Given the description of an element on the screen output the (x, y) to click on. 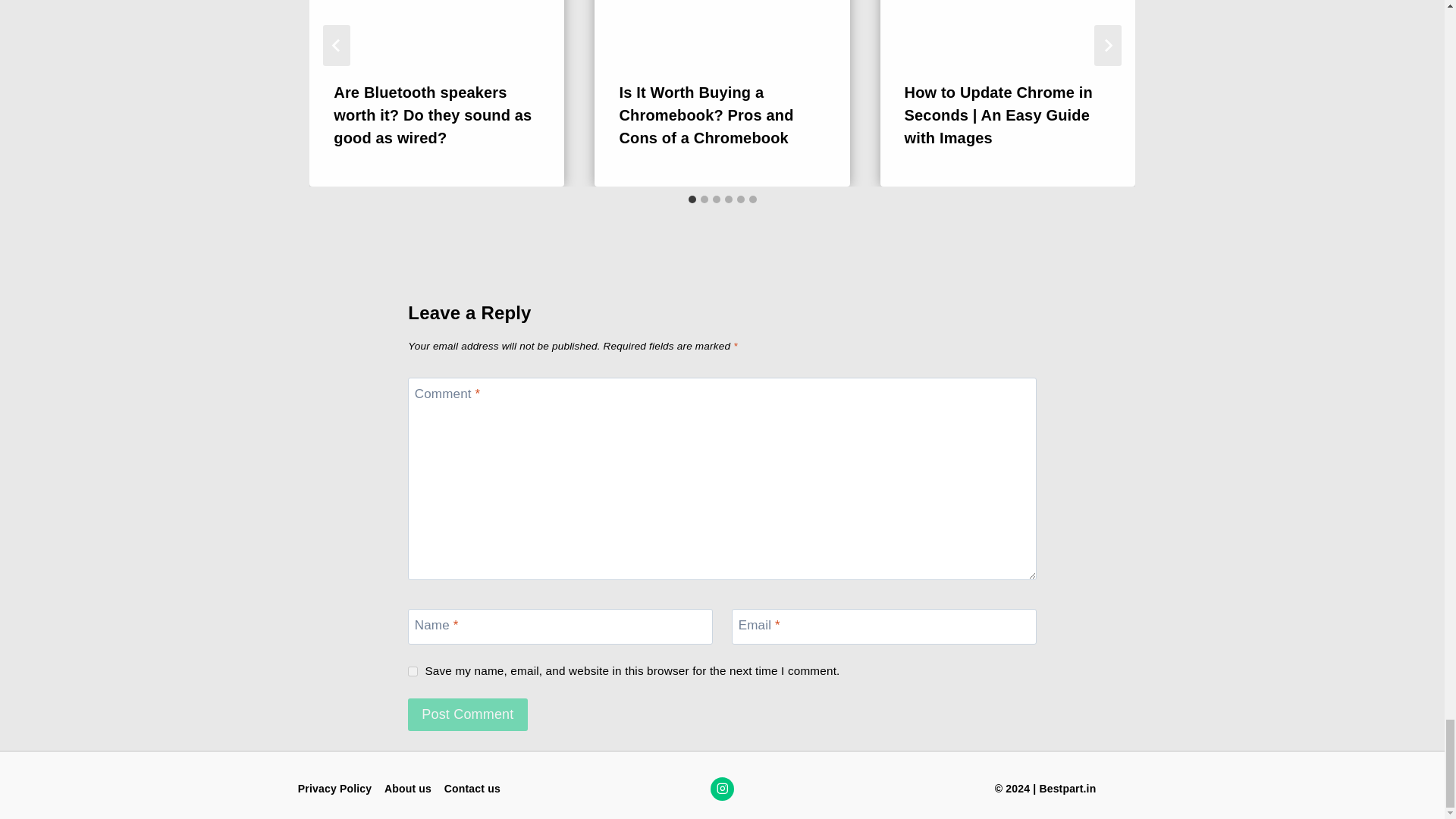
Post Comment (467, 714)
yes (412, 671)
